Given the description of an element on the screen output the (x, y) to click on. 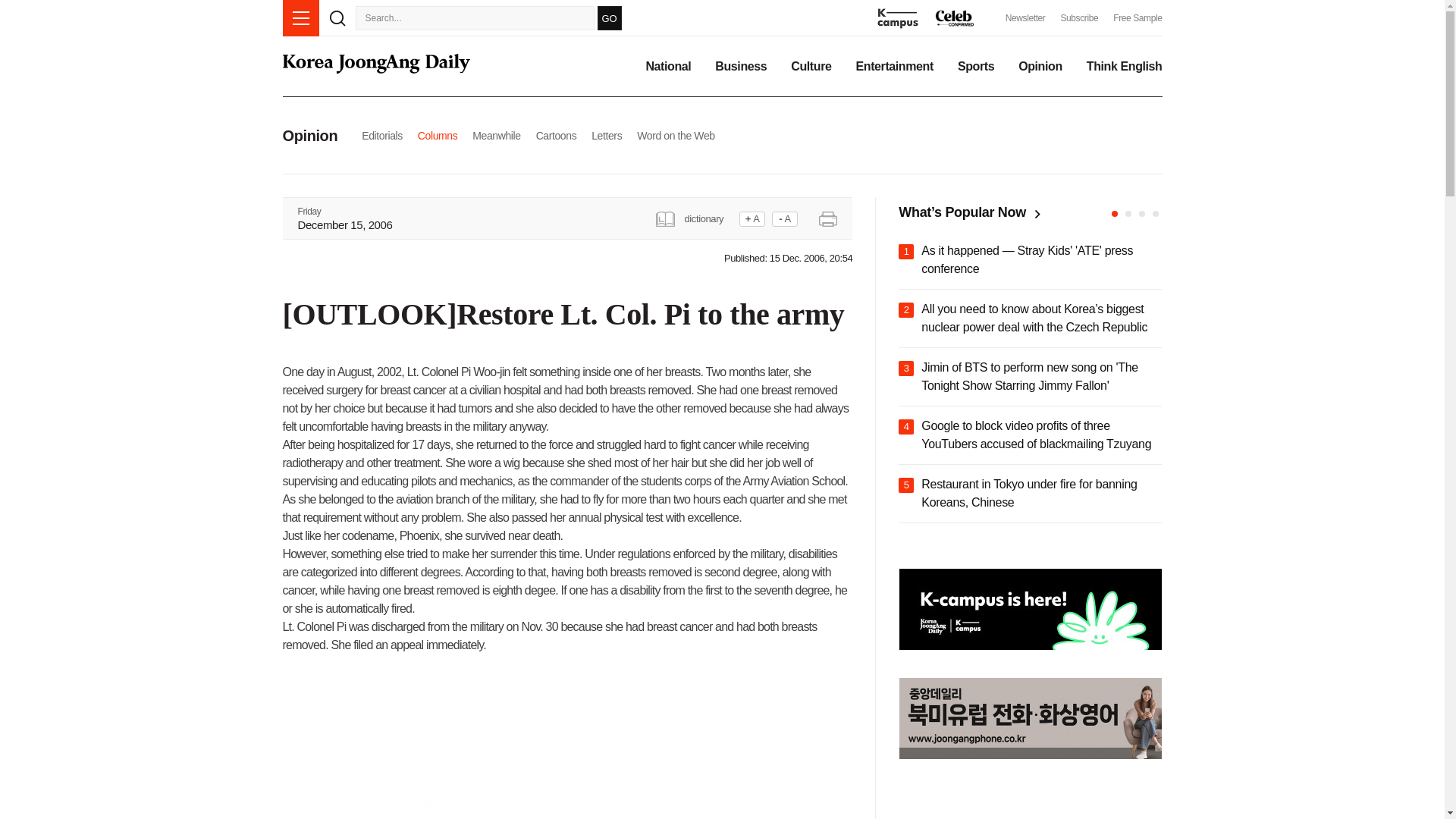
Letters (606, 135)
Word on the Web (675, 135)
Columns (437, 135)
Columns (437, 135)
Letters (606, 135)
Culture (810, 66)
GO (608, 17)
Think English (1123, 66)
National (667, 66)
Entertainment (894, 66)
Newsletter (1025, 18)
Editorials (382, 135)
Word on the Web (675, 135)
Business (740, 66)
Free Sample (1137, 18)
